Given the description of an element on the screen output the (x, y) to click on. 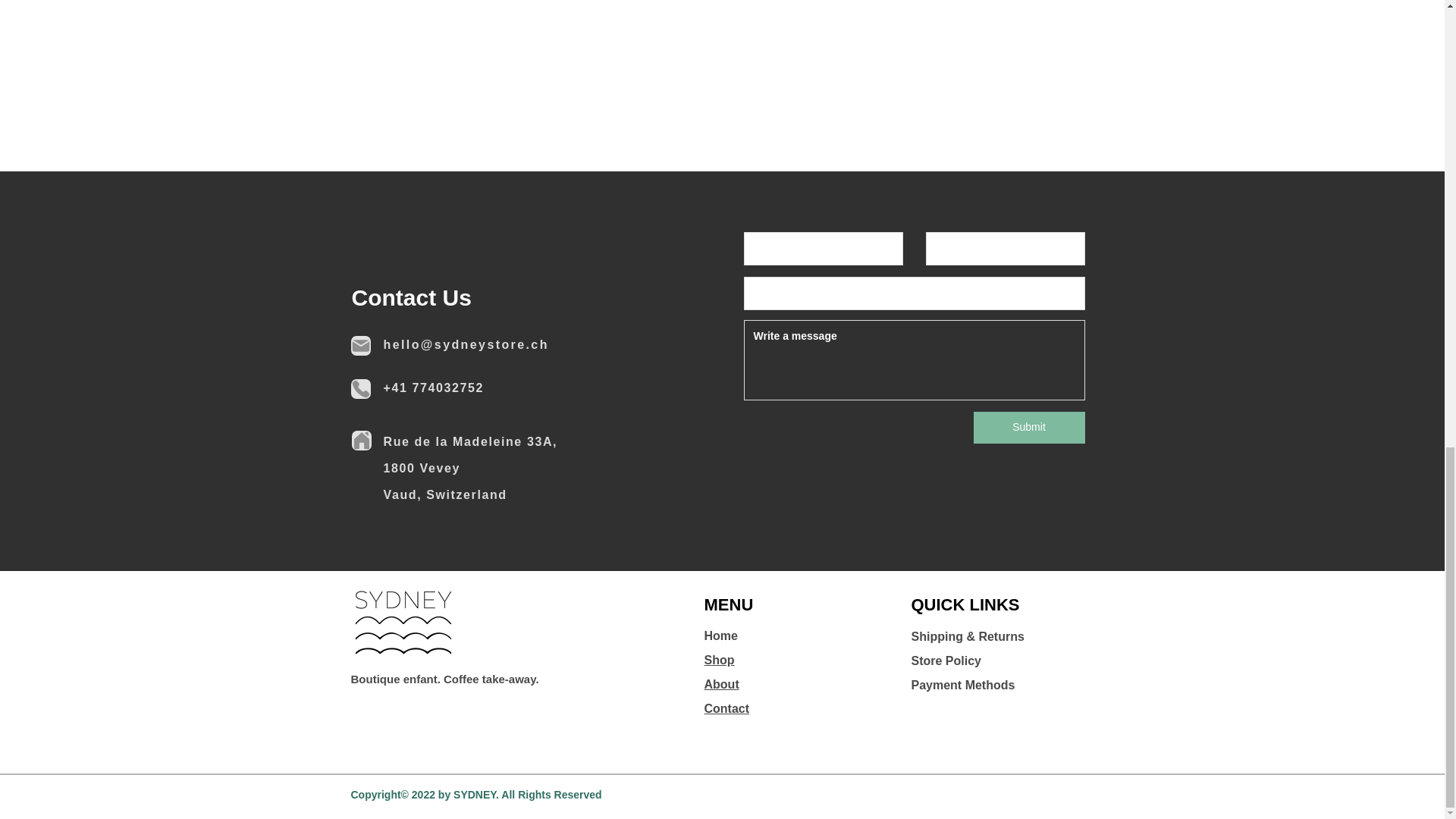
Payment Methods (962, 684)
Submit (1029, 427)
Shop (718, 659)
Boutique enfant. Coffee take-away. (444, 678)
Store Policy (946, 660)
Home (719, 635)
About (720, 684)
Contact (726, 707)
